Given the description of an element on the screen output the (x, y) to click on. 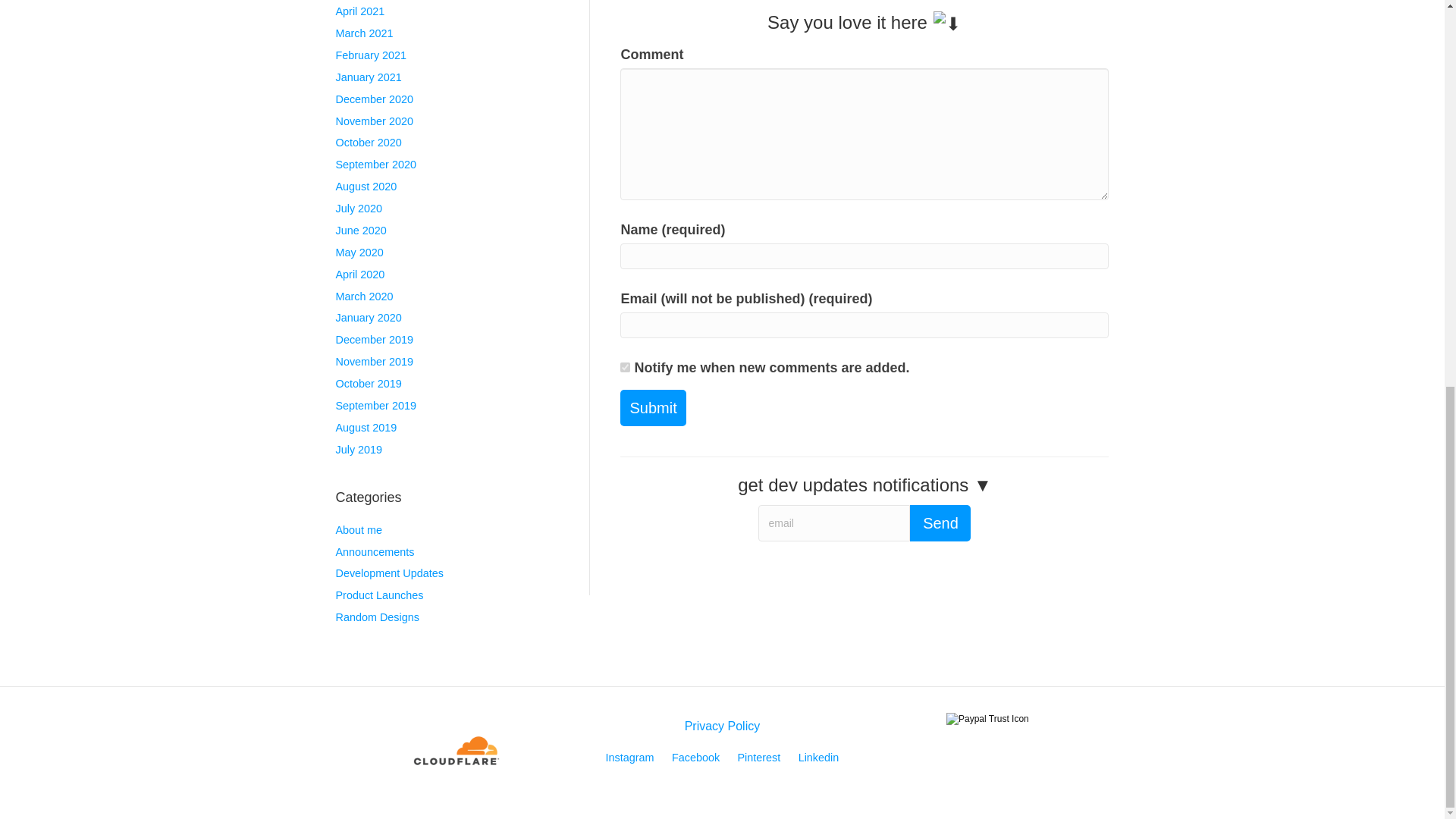
March 2021 (363, 33)
1 (625, 367)
Submit (652, 407)
April 2021 (359, 10)
Send (940, 523)
